Given the description of an element on the screen output the (x, y) to click on. 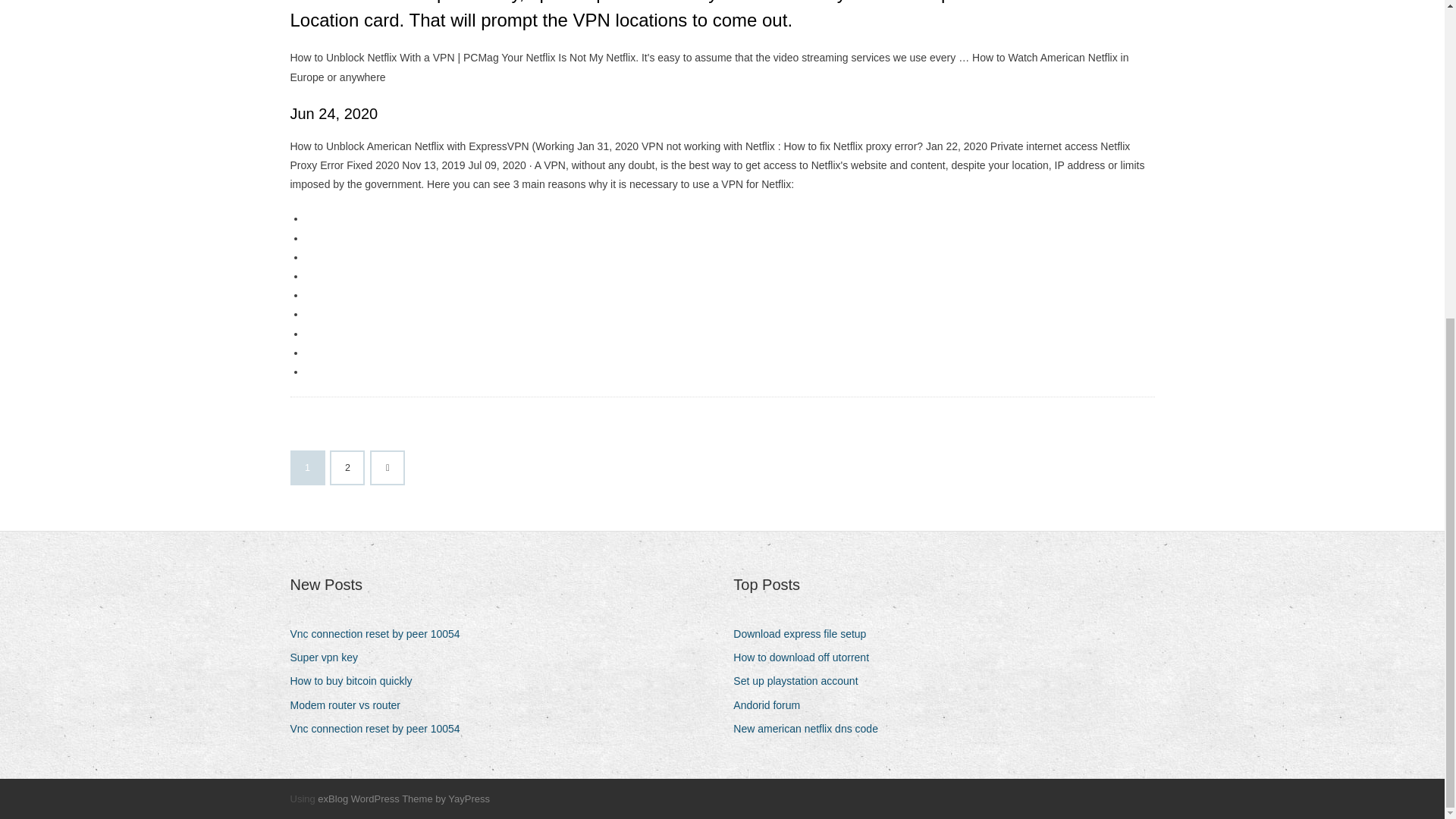
How to download off utorrent (806, 657)
Modem router vs router (350, 705)
New american netflix dns code (811, 729)
Super vpn key (329, 657)
How to buy bitcoin quickly (356, 680)
2 (346, 468)
Set up playstation account (801, 680)
Download express file setup (805, 634)
exBlog WordPress Theme by YayPress (403, 798)
Vnc connection reset by peer 10054 (379, 729)
